Given the description of an element on the screen output the (x, y) to click on. 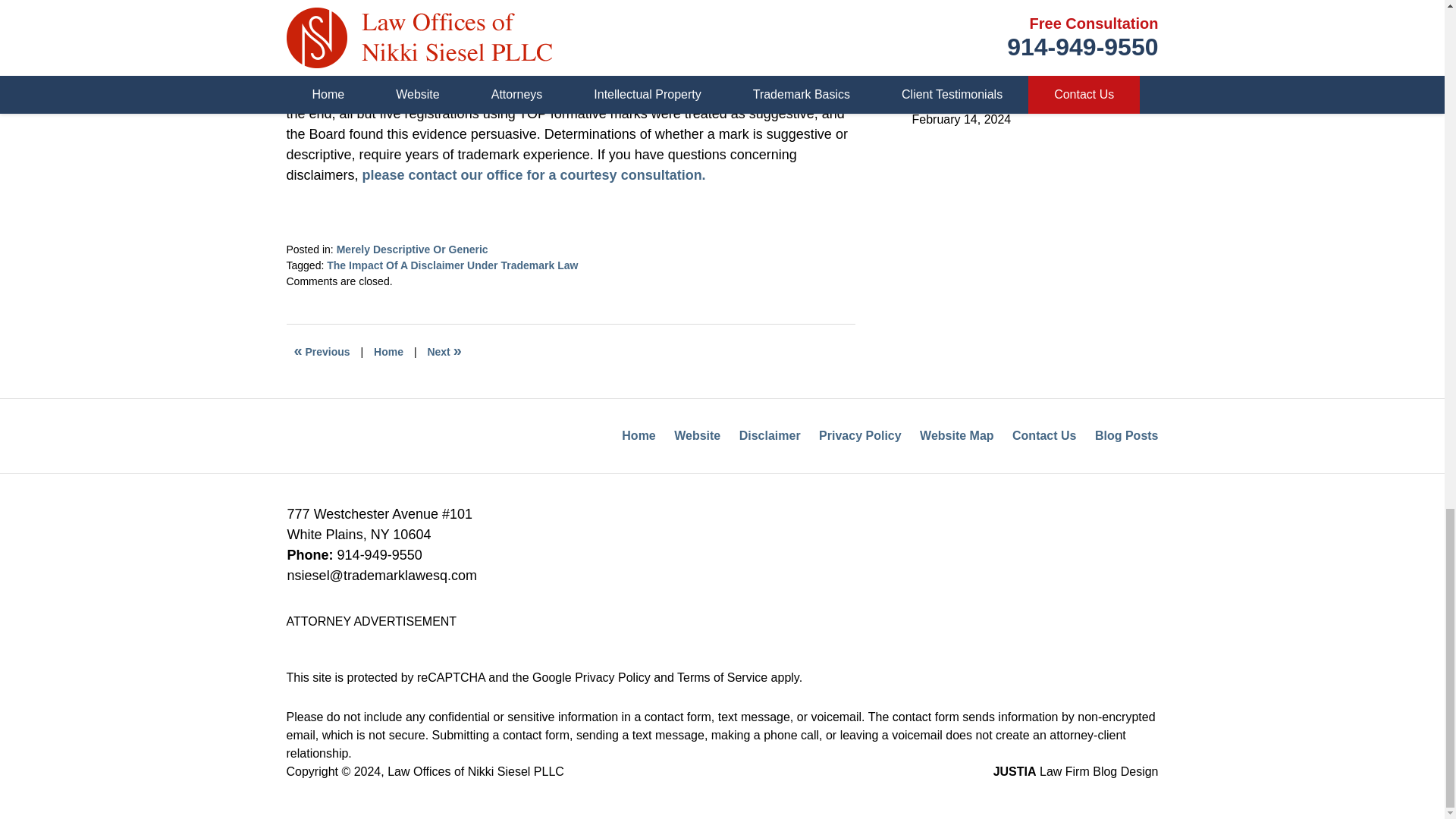
Home (388, 351)
The Impact Of A Disclaimer Under Trademark Law (452, 265)
View all posts in Merely Descriptive Or Generic (411, 249)
Merely Descriptive Or Generic (411, 249)
please contact our office for a courtesy consultation. (534, 174)
